Given the description of an element on the screen output the (x, y) to click on. 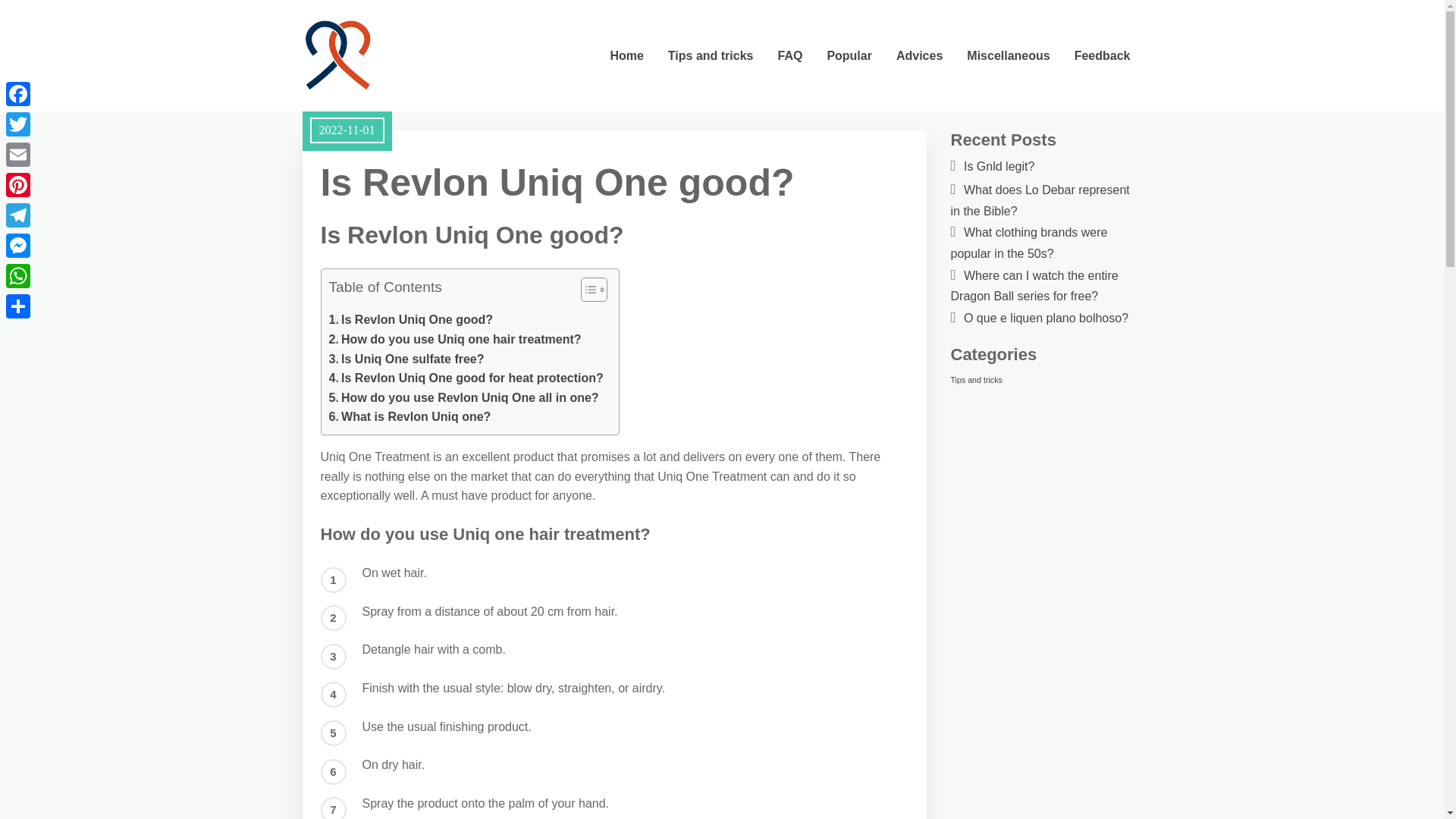
Miscellaneous (1008, 54)
Home (625, 54)
Pinterest (17, 184)
Is Revlon Uniq One good for heat protection? (466, 378)
Telegram (17, 214)
How do you use Revlon Uniq One all in one? (463, 397)
Feedback (1102, 54)
Messenger (17, 245)
Twitter (17, 123)
FAQ (789, 54)
What is Revlon Uniq one? (410, 416)
How do you use Revlon Uniq One all in one? (463, 397)
Tips and tricks (710, 54)
Is Gnld legit? (998, 165)
How do you use Uniq one hair treatment? (454, 339)
